Given the description of an element on the screen output the (x, y) to click on. 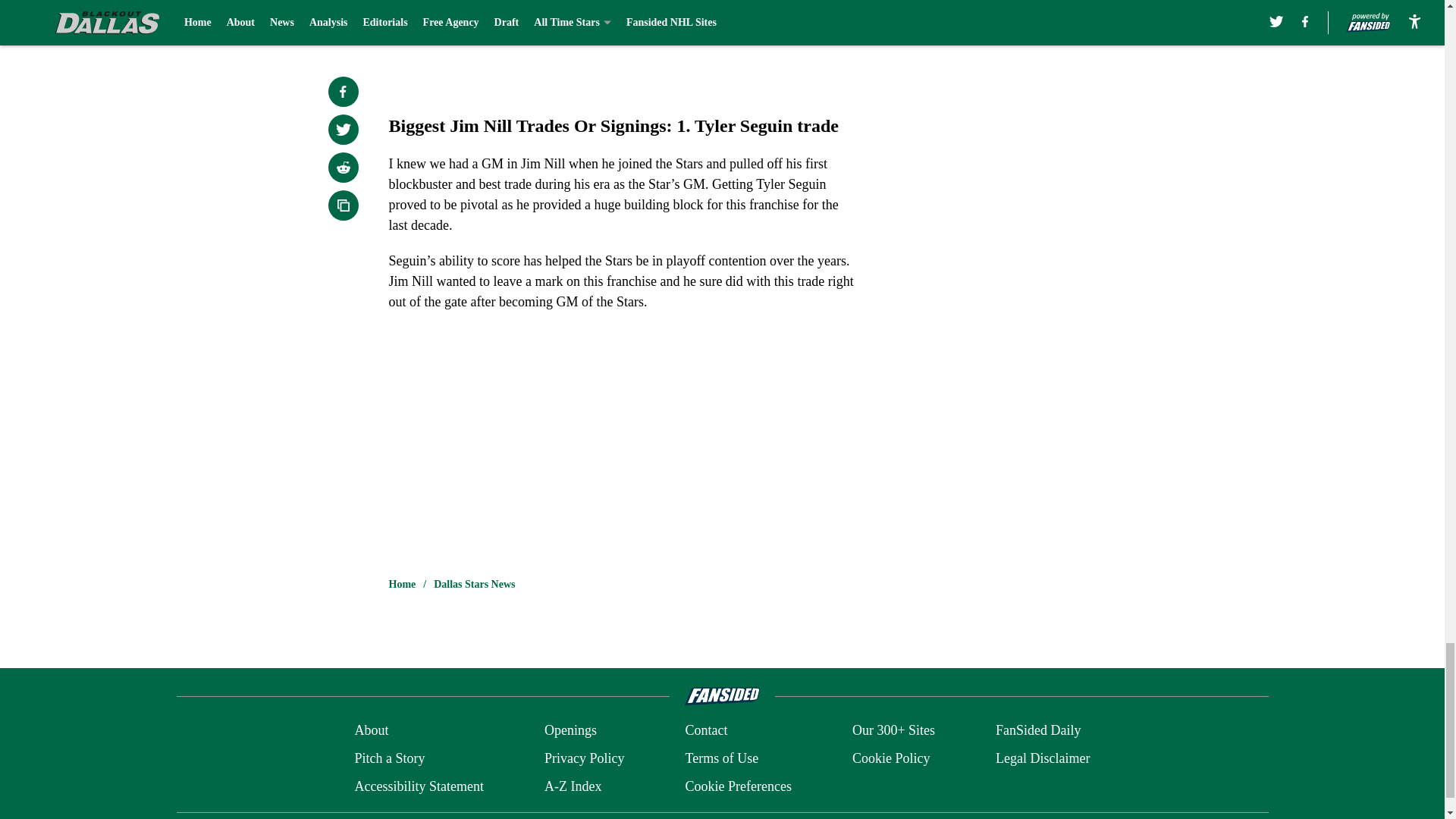
Openings (570, 730)
Privacy Policy (584, 758)
Home (401, 584)
Terms of Use (721, 758)
Pitch a Story (389, 758)
Contact (705, 730)
About (370, 730)
FanSided Daily (1038, 730)
Dallas Stars News (474, 584)
